Given the description of an element on the screen output the (x, y) to click on. 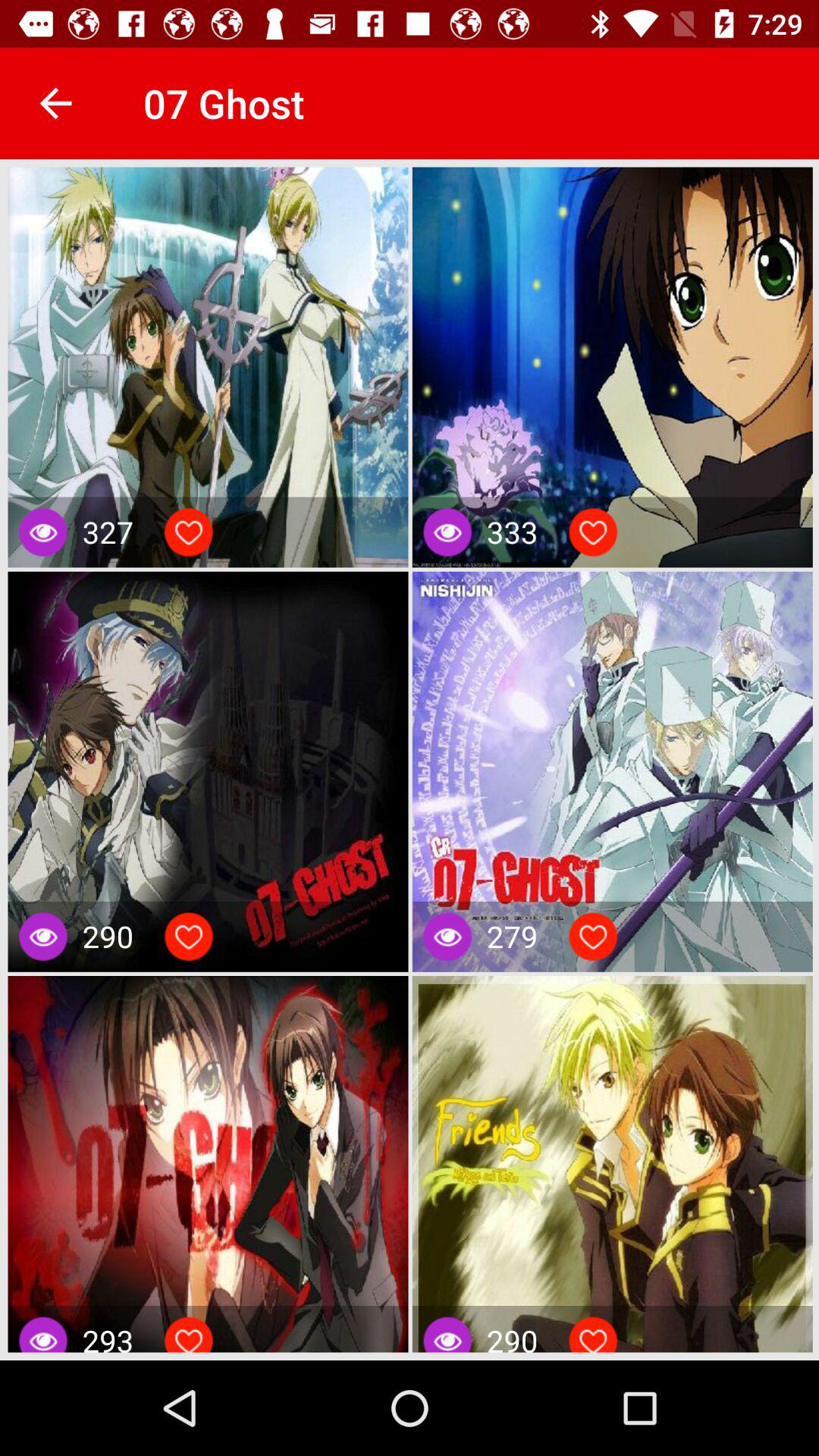
press the app to the left of the 07 ghost app (55, 103)
